Given the description of an element on the screen output the (x, y) to click on. 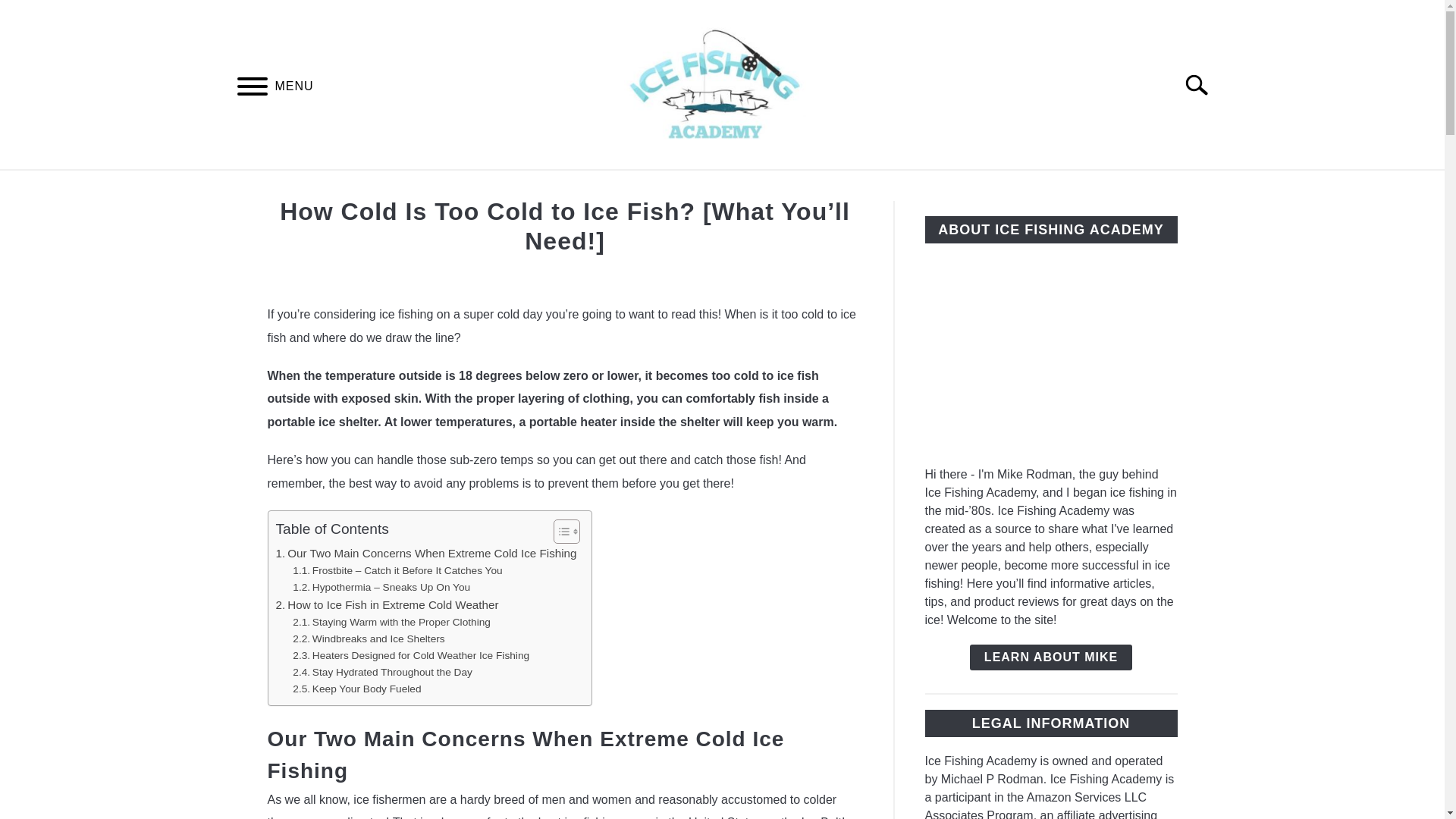
Our Two Main Concerns When Extreme Cold Ice Fishing (426, 553)
Stay Hydrated Throughout the Day (381, 672)
Staying Warm with the Proper Clothing (391, 622)
How to Ice Fish in Extreme Cold Weather (387, 605)
Windbreaks and Ice Shelters (368, 638)
PRIVACY POLICY (985, 187)
Windbreaks and Ice Shelters (368, 638)
Search (1203, 84)
Keep Your Body Fueled (356, 688)
Heaters Designed for Cold Weather Ice Fishing (410, 655)
